Given the description of an element on the screen output the (x, y) to click on. 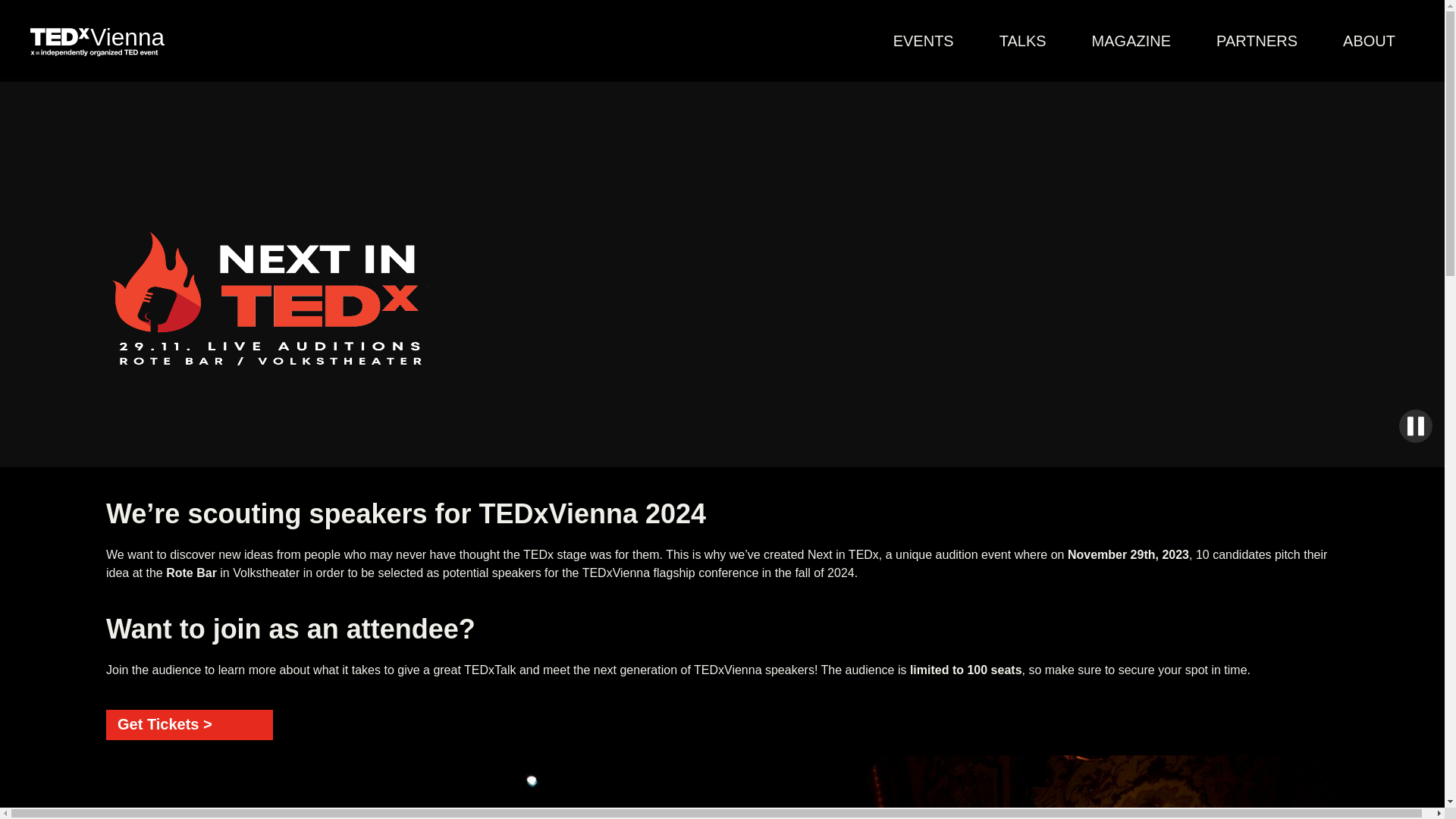
ABOUT (1368, 40)
EVENTS (923, 40)
MAGAZINE (1131, 40)
PARTNERS (1256, 40)
TALKS (1022, 40)
